Given the description of an element on the screen output the (x, y) to click on. 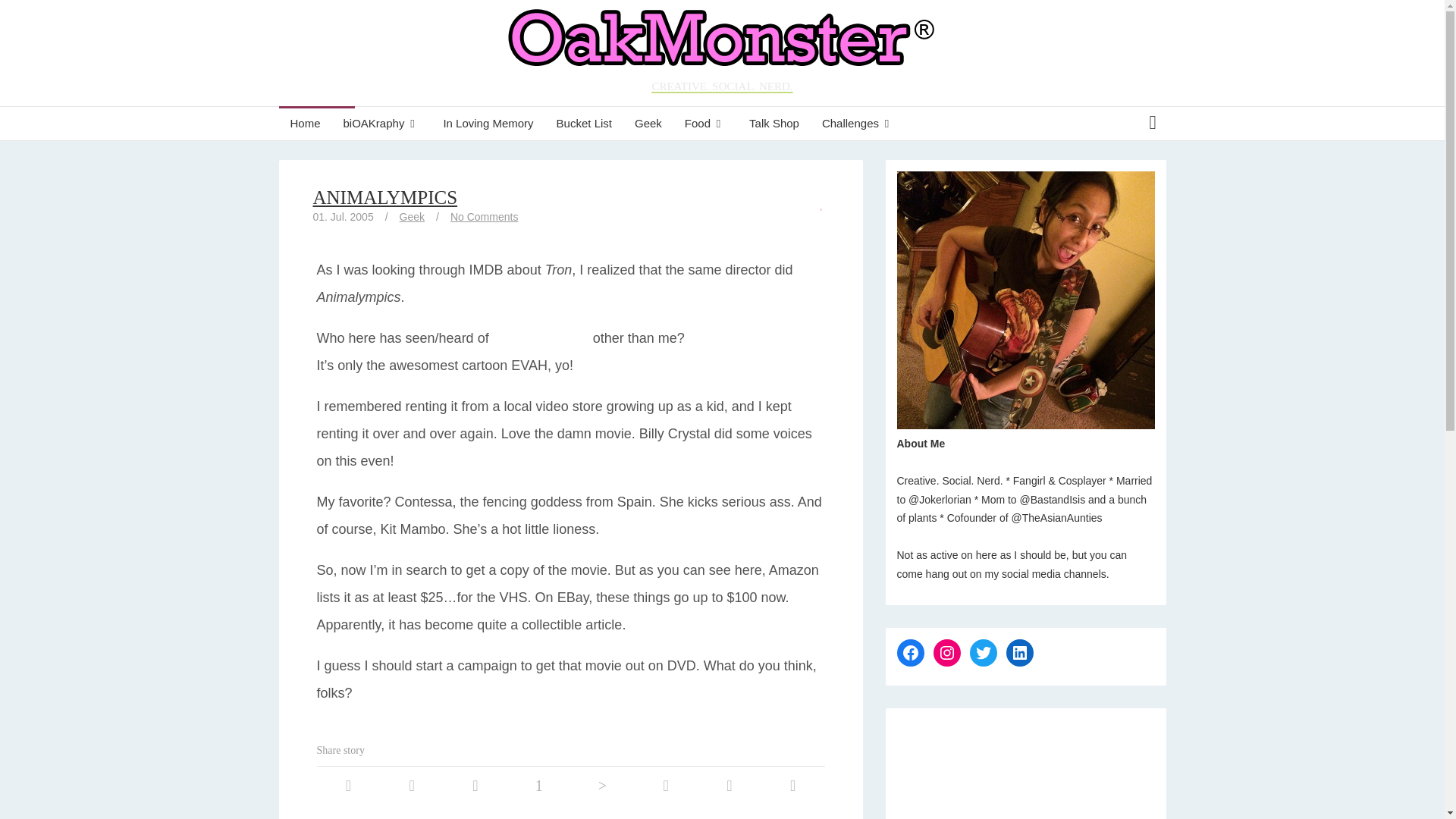
ANIMALYMPICS (385, 197)
No Comments (483, 216)
Food (705, 123)
CREATIVE. SOCIAL. NERD. (722, 53)
Geek (647, 123)
View all posts in Geek (411, 216)
Animalympics (540, 338)
Bucket List (583, 123)
biOAKraphy (381, 123)
Geek (411, 216)
